Given the description of an element on the screen output the (x, y) to click on. 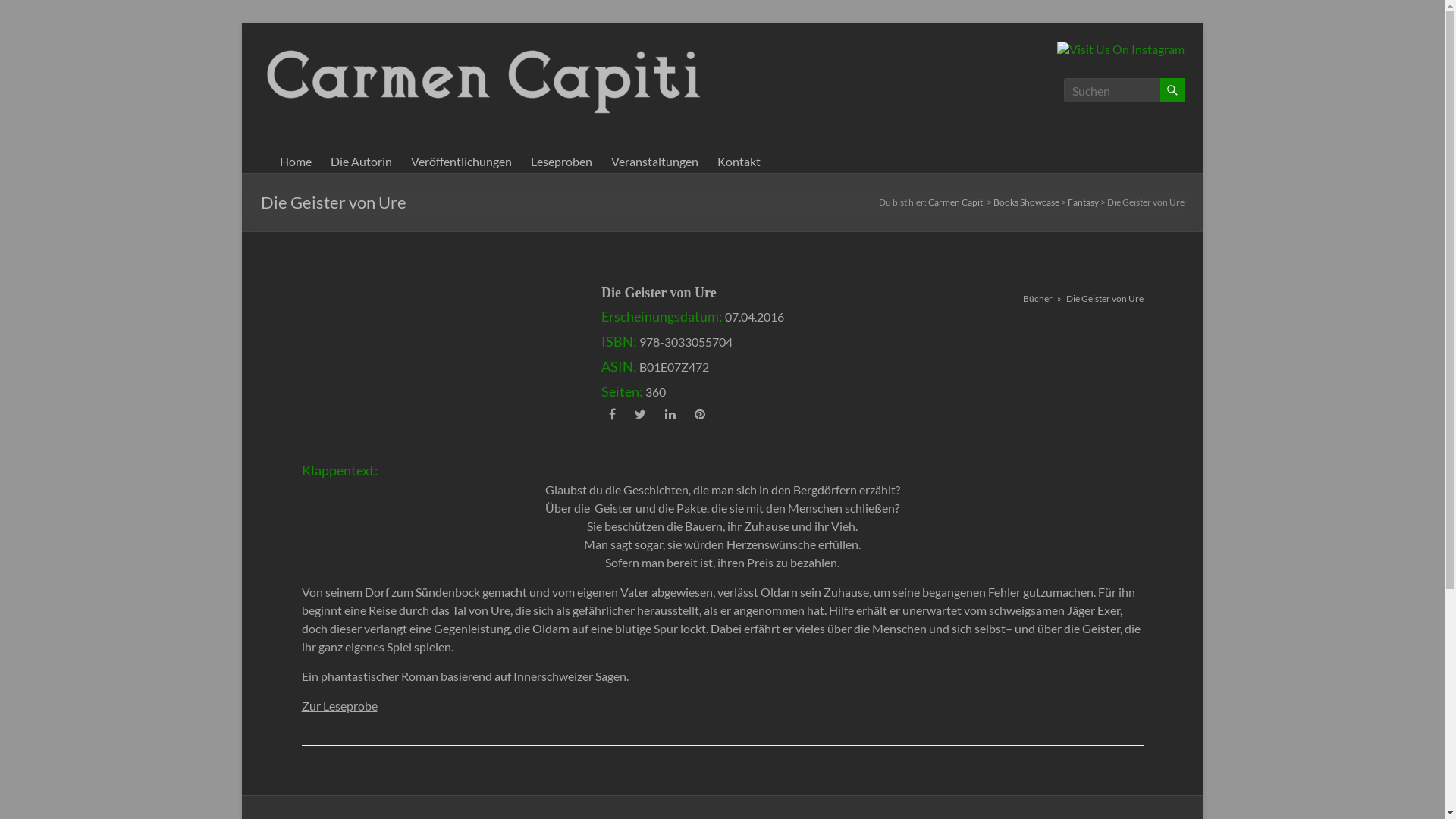
Visit Us On Instagram Element type: hover (1119, 48)
Leseproben Element type: text (561, 161)
Kontakt Element type: text (738, 161)
Books Showcase Element type: text (1026, 201)
Die Autorin Element type: text (361, 161)
Fantasy Element type: text (1082, 201)
Share on LinkedIn Element type: hover (670, 413)
Tweet this! Element type: hover (640, 413)
Carmen Capiti Element type: text (307, 68)
Home Element type: text (294, 161)
Carmen Capiti Element type: text (956, 201)
Zur Leseprobe Element type: text (339, 705)
Zum Inhalt springen Element type: text (241, 21)
Veranstaltungen Element type: text (654, 161)
Share on Facebook. Element type: hover (612, 413)
